Given the description of an element on the screen output the (x, y) to click on. 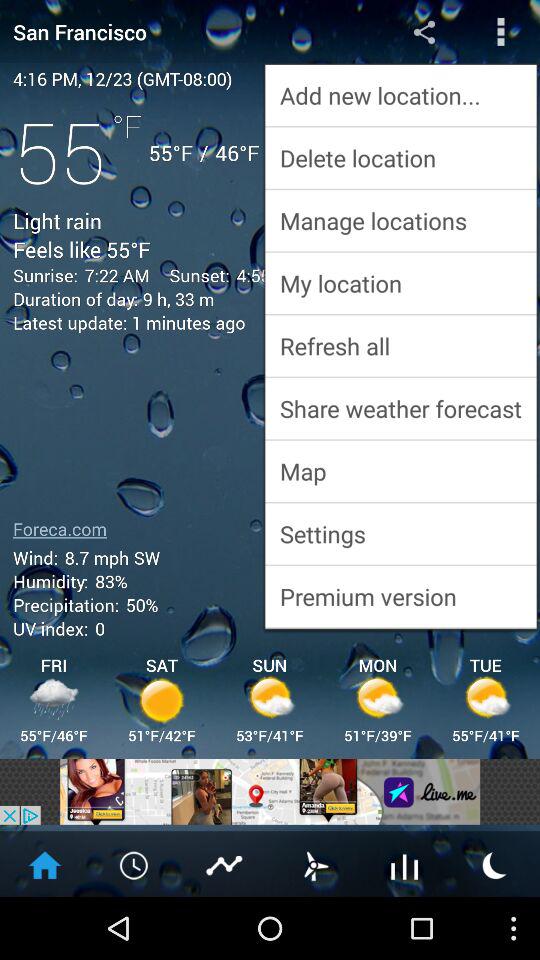
click the add new location... icon (400, 94)
